Given the description of an element on the screen output the (x, y) to click on. 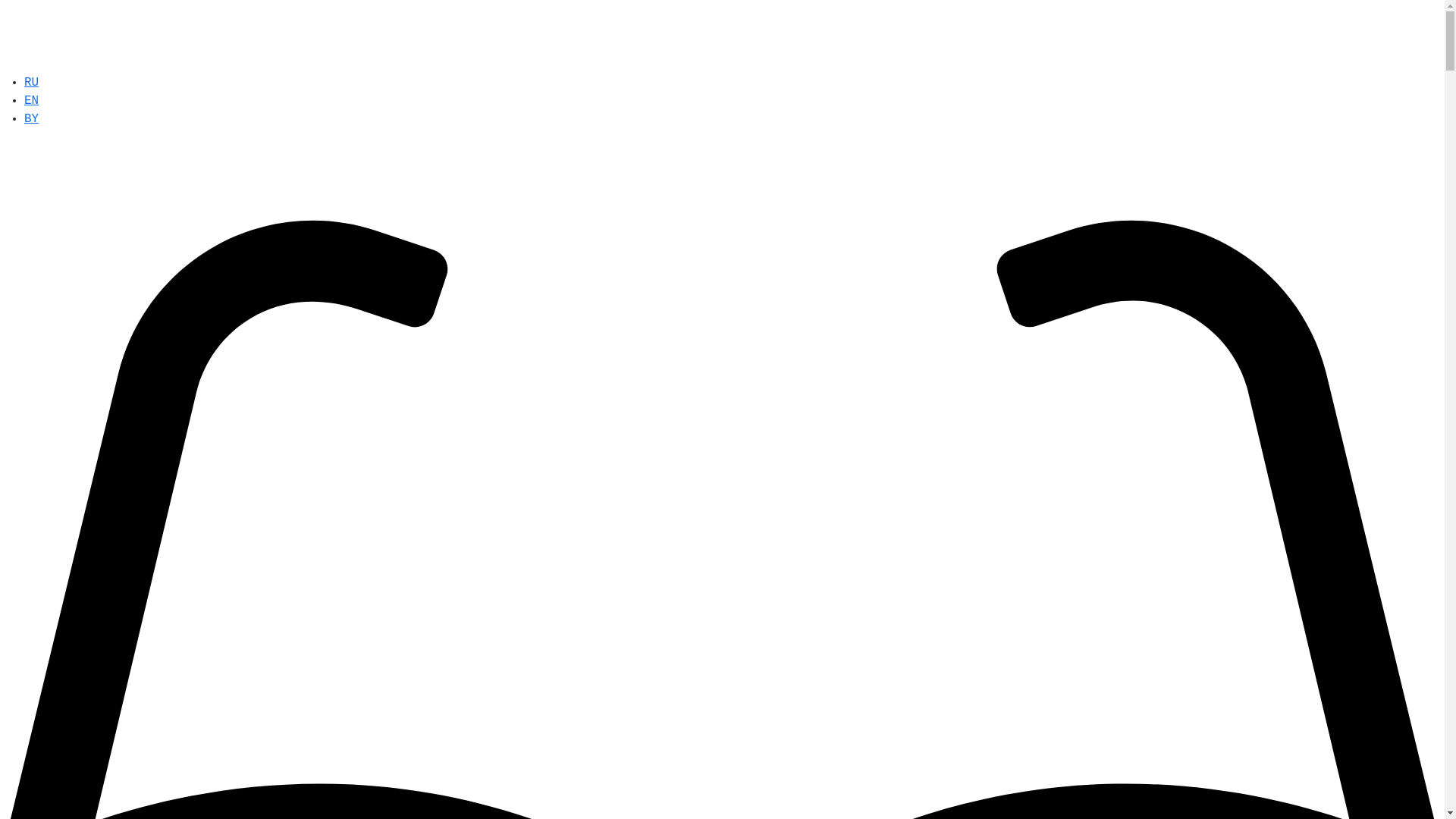
BY Element type: text (31, 118)
EN Element type: text (31, 100)
RU Element type: text (31, 82)
